Given the description of an element on the screen output the (x, y) to click on. 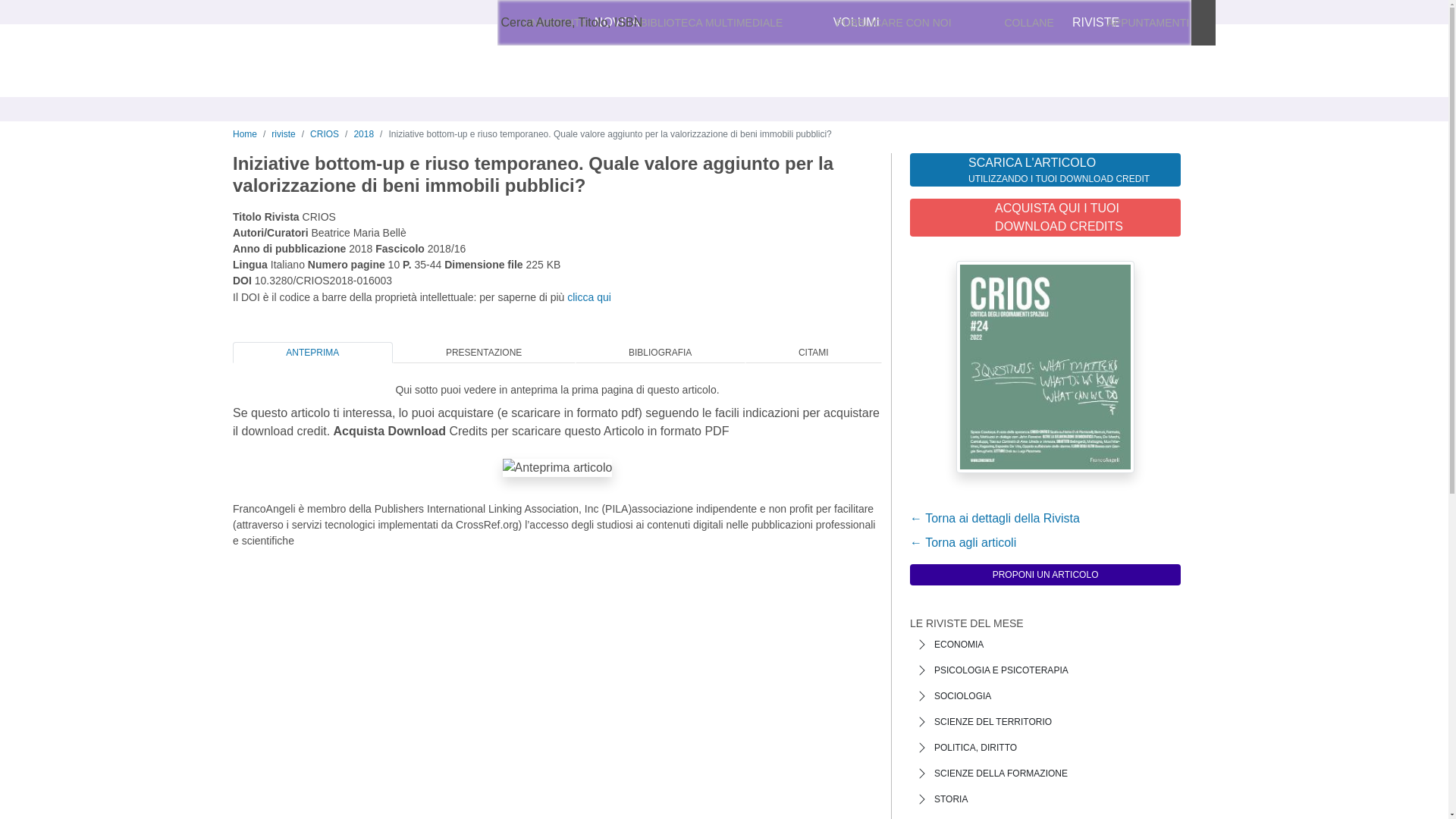
Carrello (1170, 22)
aiuto (619, 23)
BIBLIOTECA MULTIMEDIALE (711, 22)
PUBBLICARE CON NOI (892, 22)
APPUNTAMENTI (1147, 22)
contatti (577, 23)
ENG (919, 22)
Preferiti (1082, 22)
chi siamo (525, 23)
COLLANE (1029, 22)
